Given the description of an element on the screen output the (x, y) to click on. 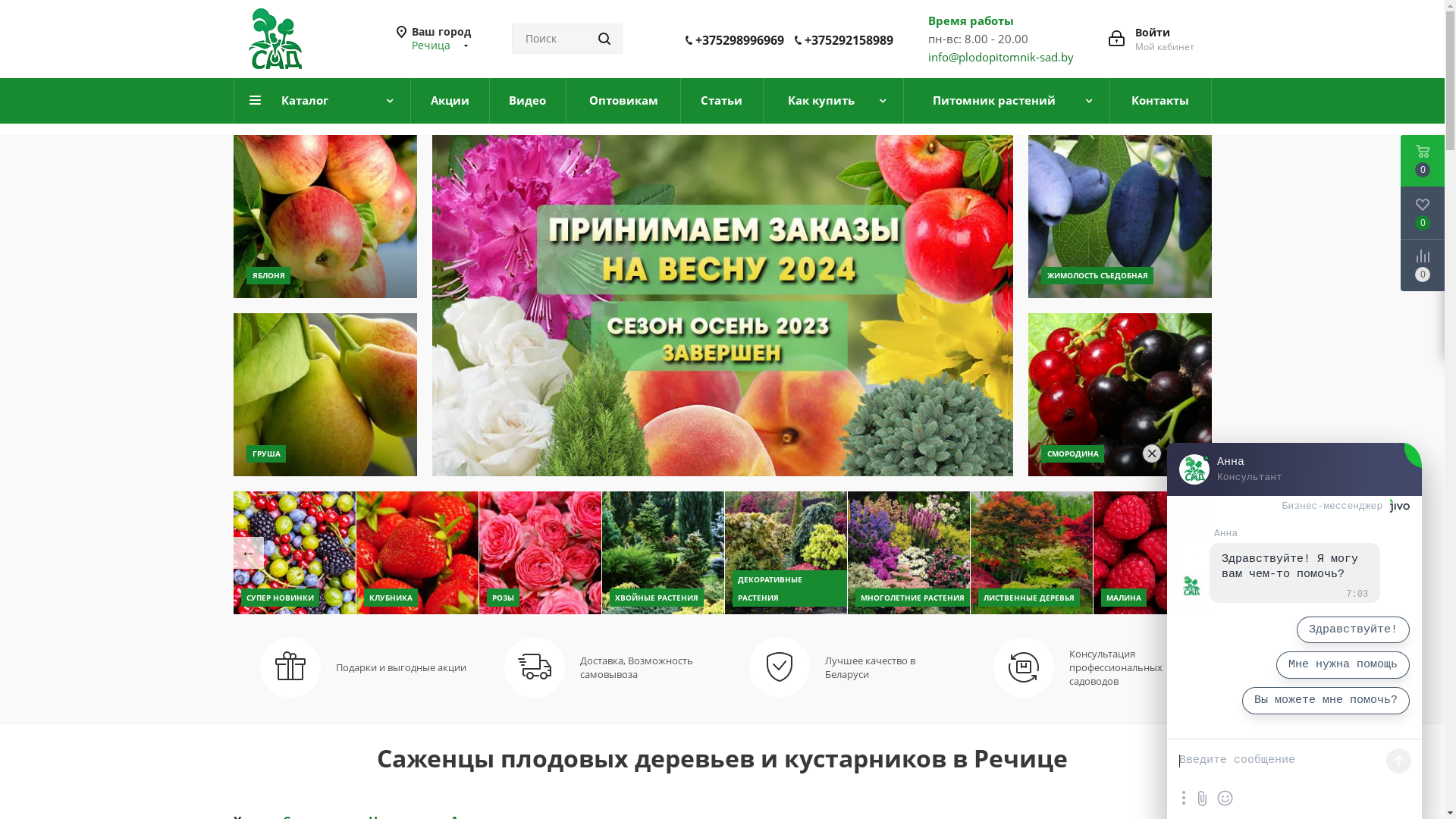
Next Element type: text (1188, 552)
+375292158989 Element type: text (847, 39)
info@plodopitomnik-sad.by Element type: text (1000, 56)
+375298996969 Element type: text (738, 39)
Previous Element type: text (240, 552)
